Given the description of an element on the screen output the (x, y) to click on. 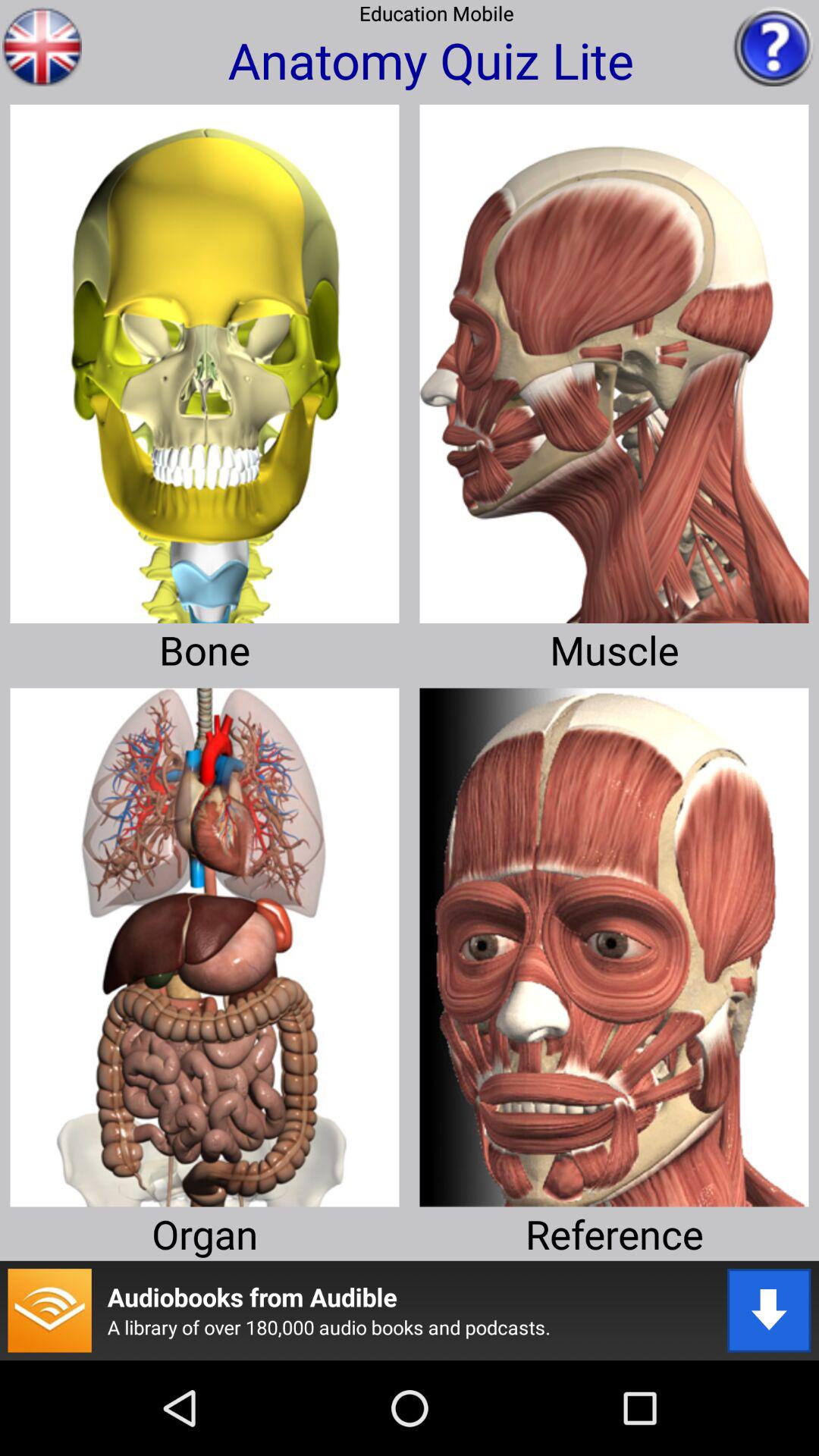
image that is able to be selected (204, 358)
